Given the description of an element on the screen output the (x, y) to click on. 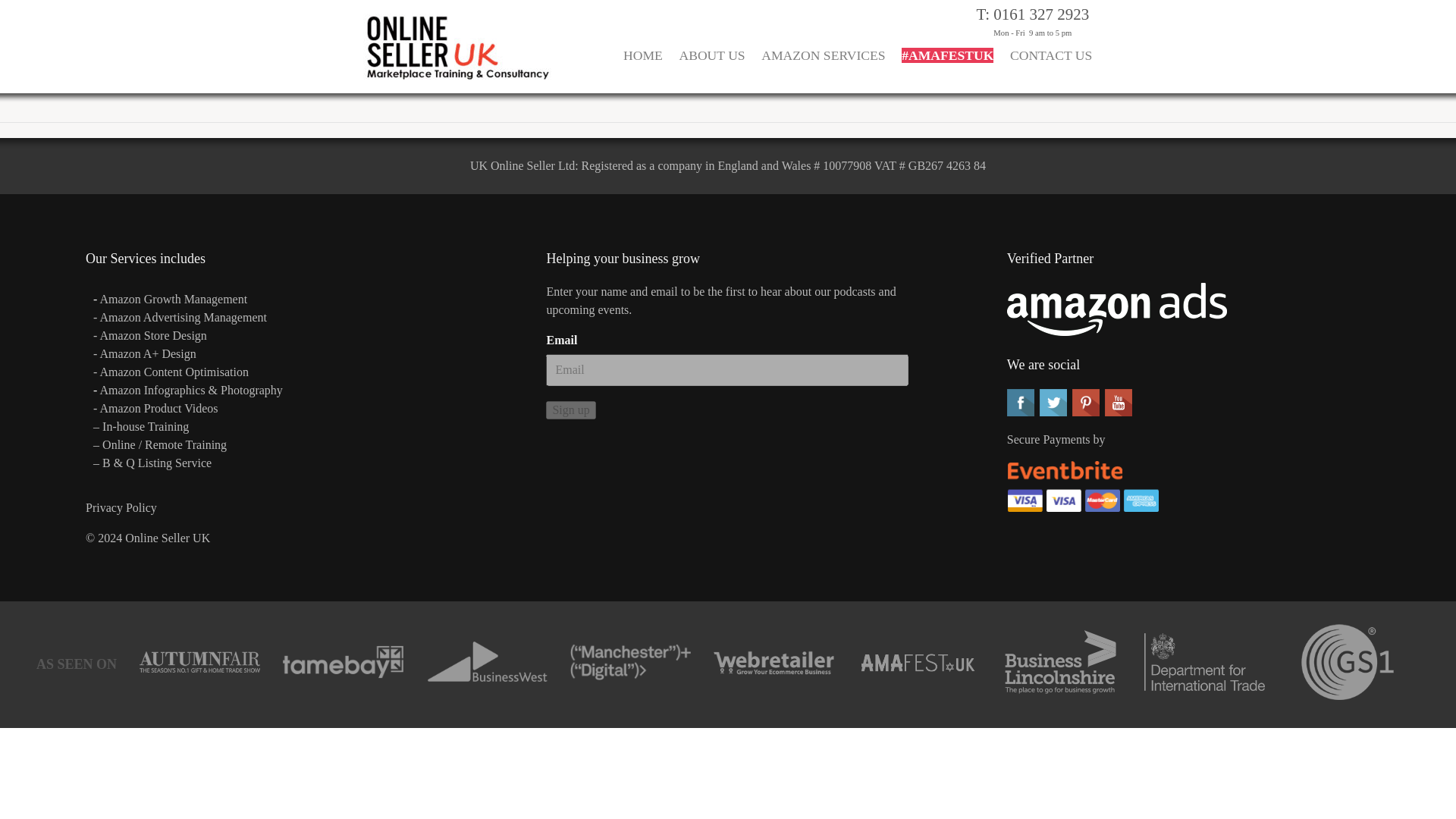
Sign up (570, 410)
- Amazon Product Videos  (157, 408)
Privacy Policy (121, 507)
HOME (641, 64)
Amazon Growth Management (173, 298)
- Amazon Store Design (149, 335)
CONTACT US (1051, 64)
ABOUT US (712, 64)
- Amazon Content Optimisation (170, 371)
- Amazon Advertising Management (179, 317)
AMAZON SERVICES (822, 64)
